Given the description of an element on the screen output the (x, y) to click on. 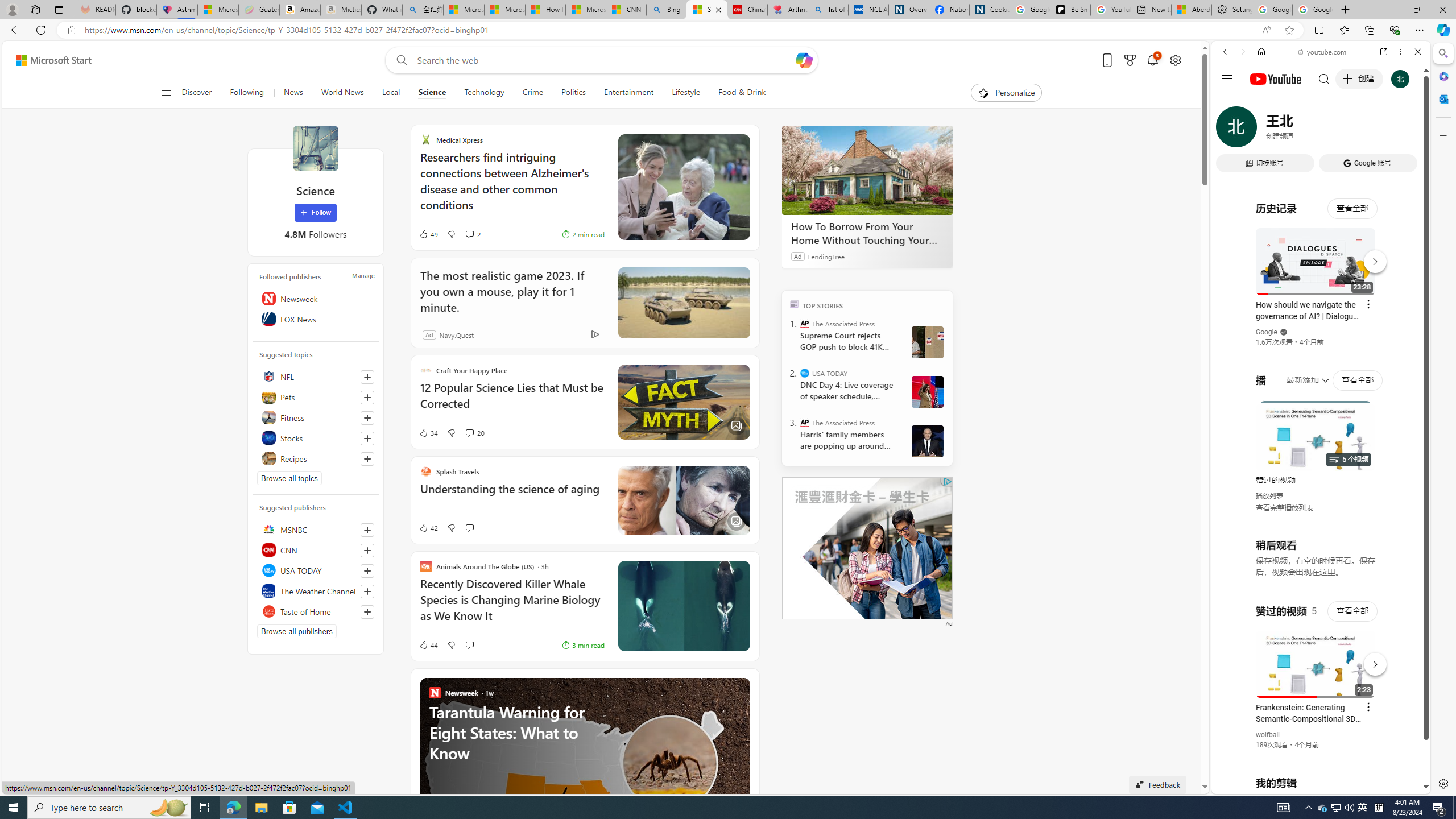
Collections (1369, 29)
Following (246, 92)
Google (1320, 281)
Class: b_serphb (1404, 130)
Split screen (1318, 29)
Lifestyle (685, 92)
Close (1417, 51)
Following (248, 92)
Food & Drink (737, 92)
Microsoft 365 (1442, 76)
Open link in new tab (1383, 51)
Arthritis: Ask Health Professionals (787, 9)
Side bar (1443, 418)
